Given the description of an element on the screen output the (x, y) to click on. 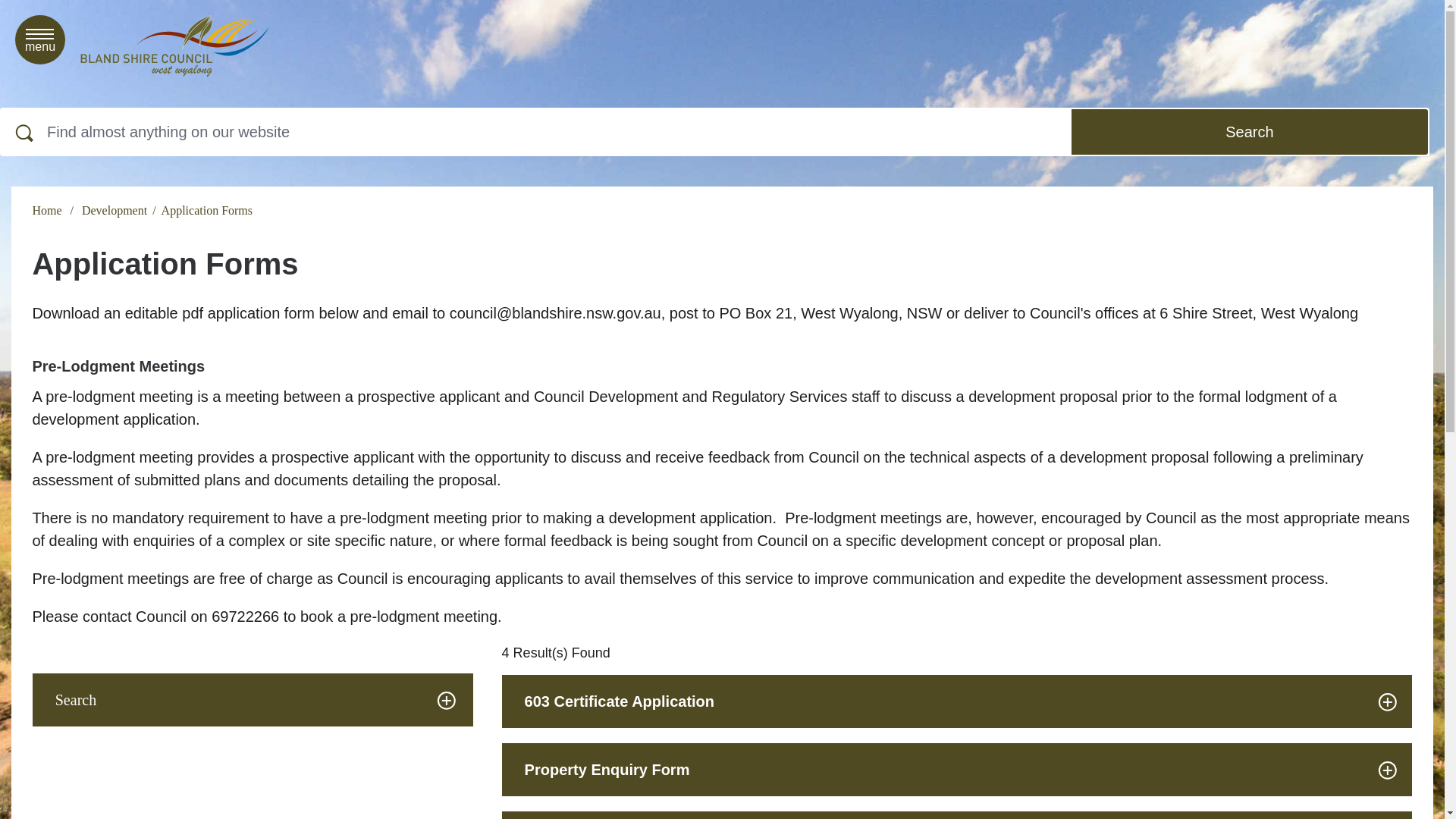
Bland Shire Council - Home - Logo (174, 45)
Search (39, 39)
Search (1249, 131)
Search (1249, 131)
